Given the description of an element on the screen output the (x, y) to click on. 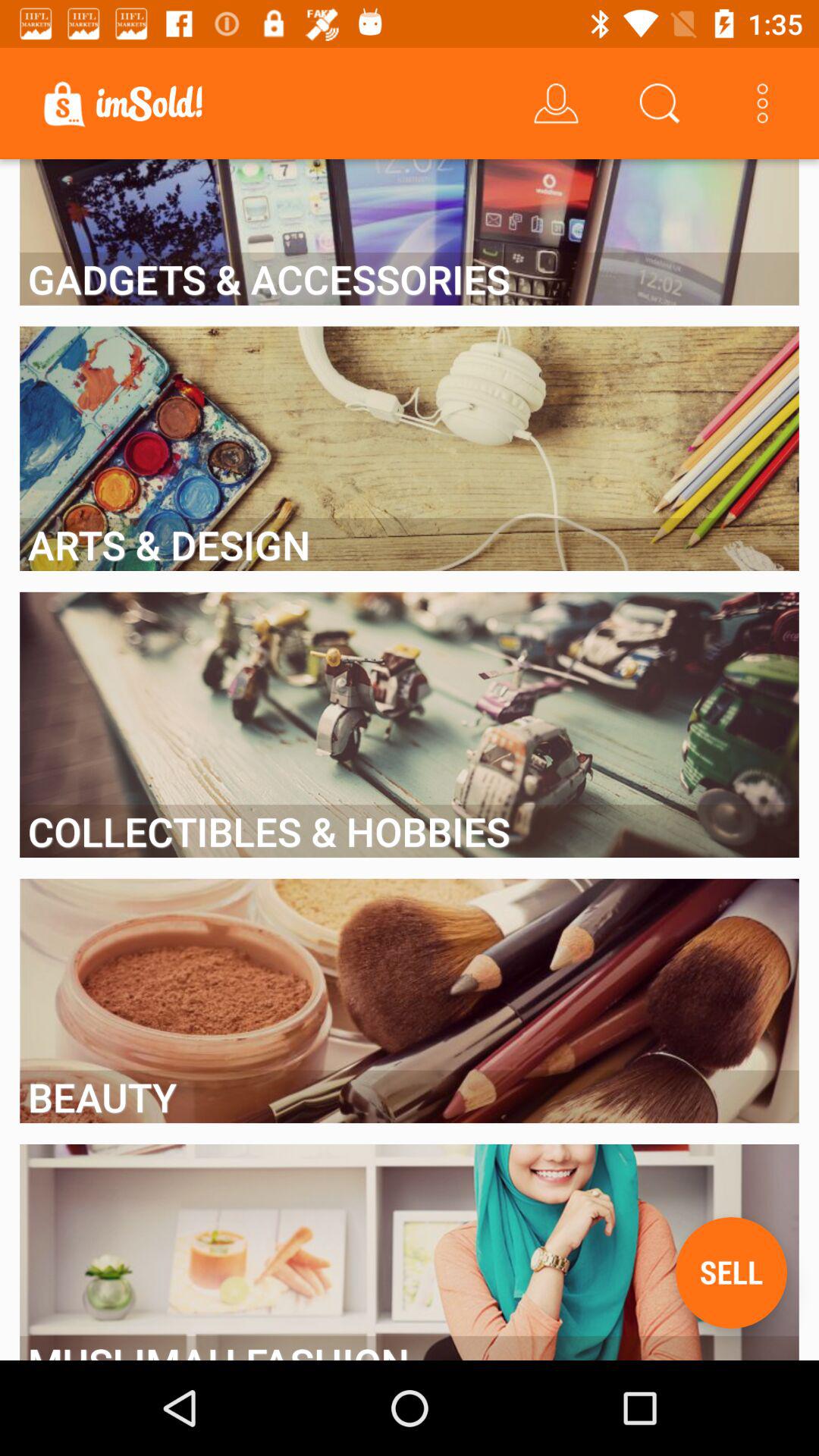
press the beauty item (409, 1096)
